Given the description of an element on the screen output the (x, y) to click on. 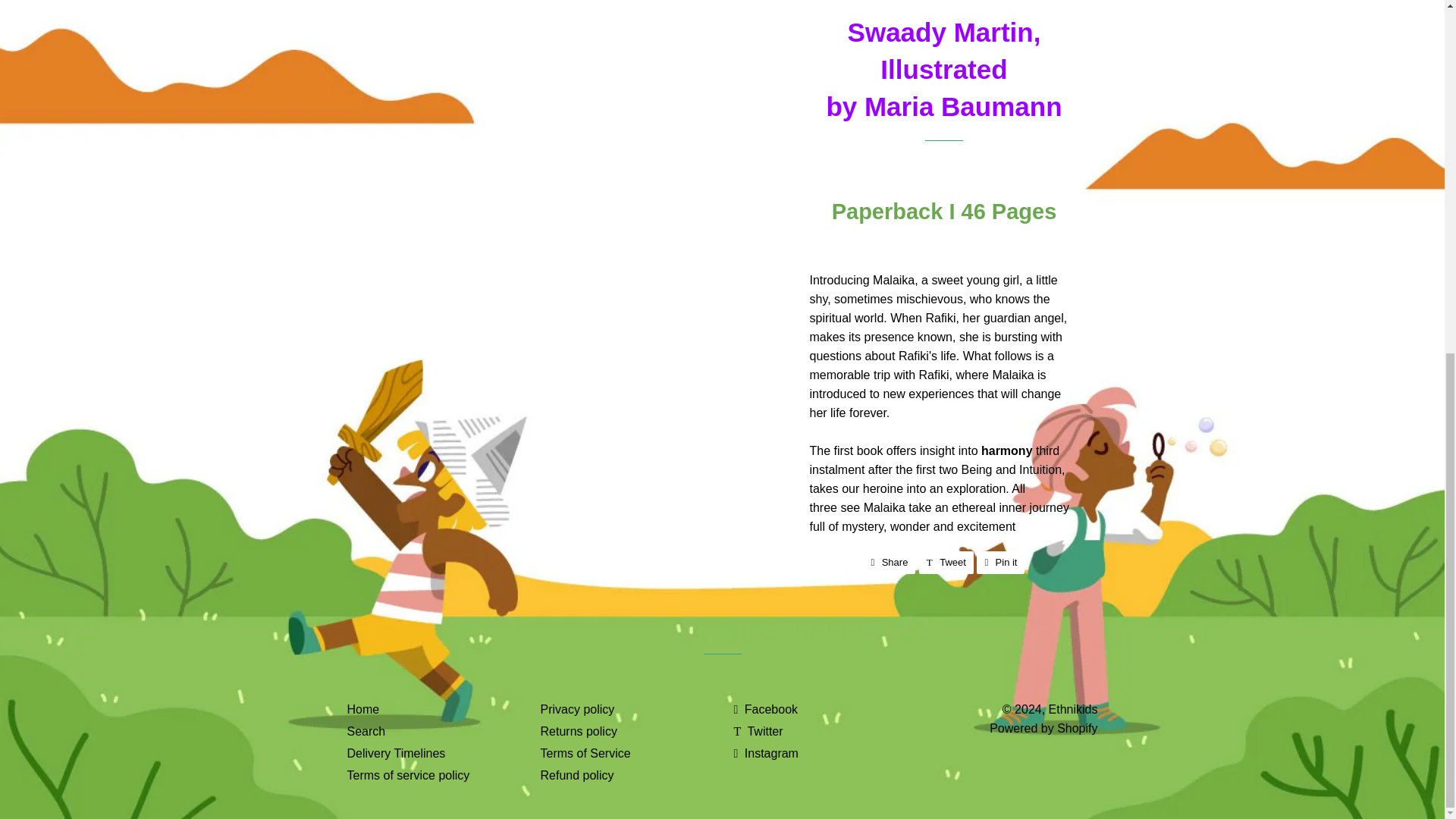
Ethnikids on Instagram (765, 753)
Share on Facebook (889, 562)
Tweet on Twitter (946, 562)
Pin on Pinterest (1000, 562)
Ethnikids on Twitter (758, 730)
Ethnikids on Facebook (765, 708)
